Given the description of an element on the screen output the (x, y) to click on. 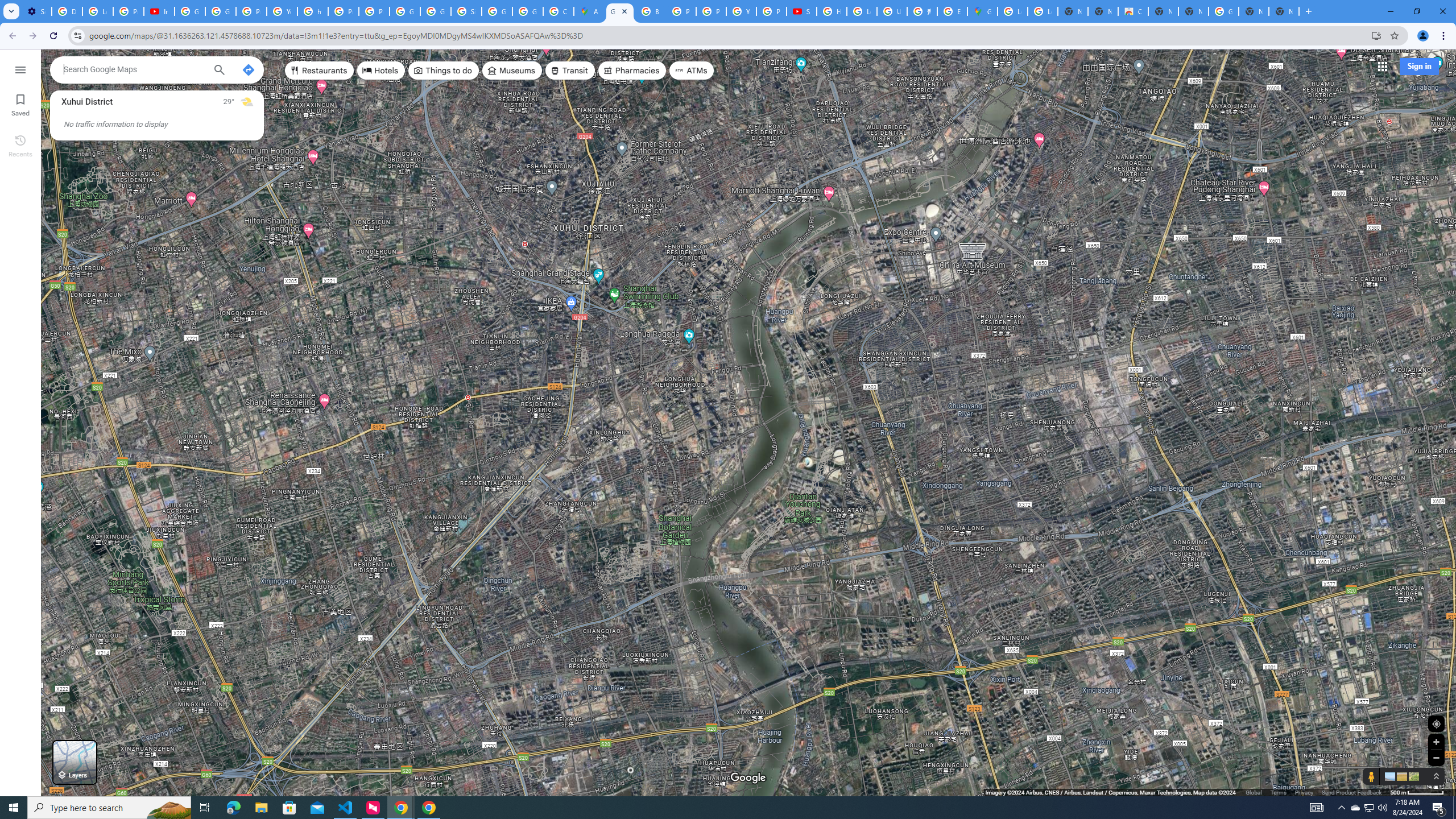
Explore new street-level details - Google Maps Help (951, 11)
Privacy Help Center - Policies Help (681, 11)
Subscriptions - YouTube (801, 11)
https://scholar.google.com/ (312, 11)
Chrome Web Store (1132, 11)
Privacy Help Center - Policies Help (343, 11)
